Given the description of an element on the screen output the (x, y) to click on. 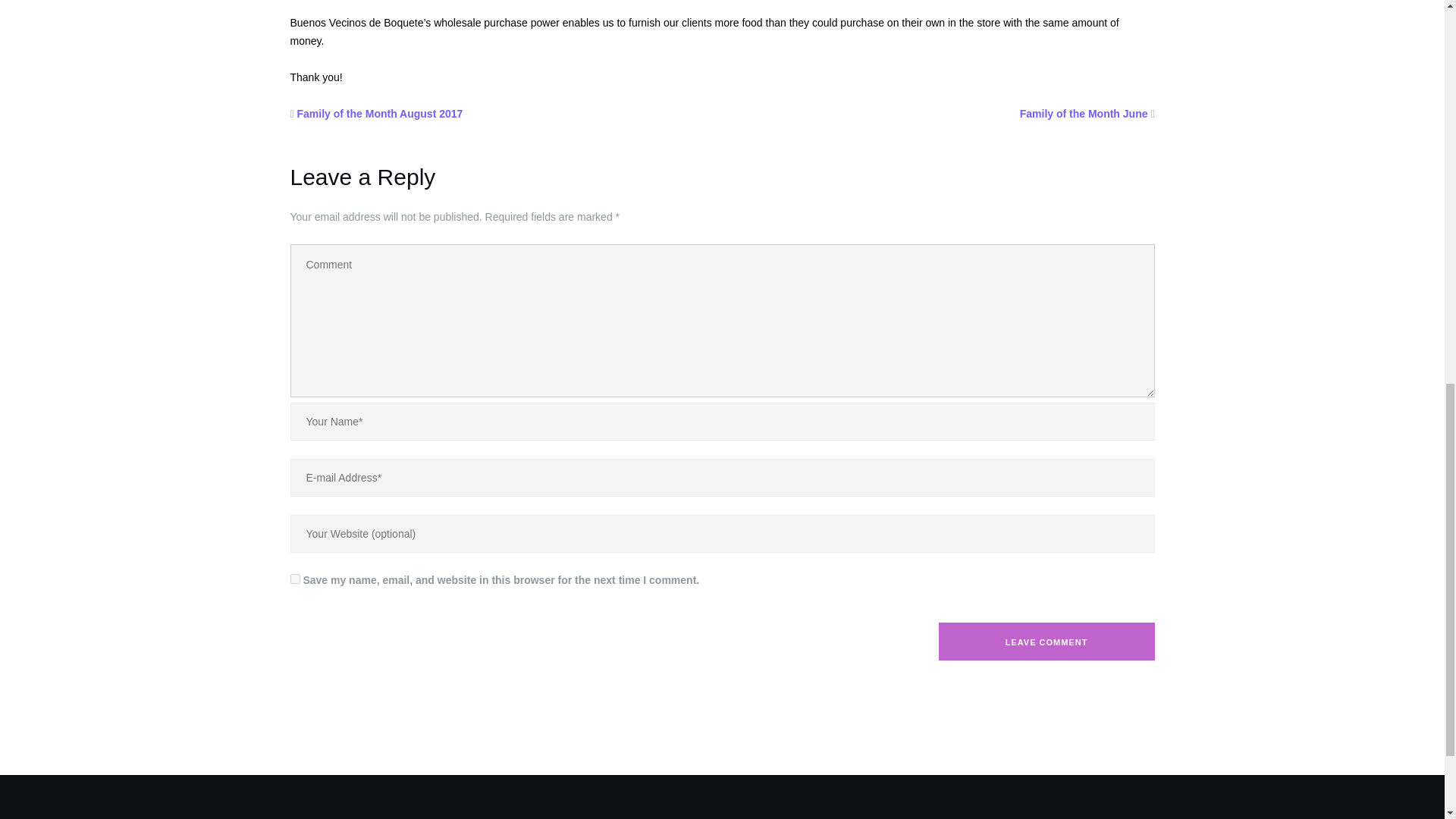
Leave Comment (1046, 641)
yes (294, 578)
Family of the Month June (1084, 113)
Family of the Month August 2017 (380, 113)
Leave Comment (1046, 641)
